Given the description of an element on the screen output the (x, y) to click on. 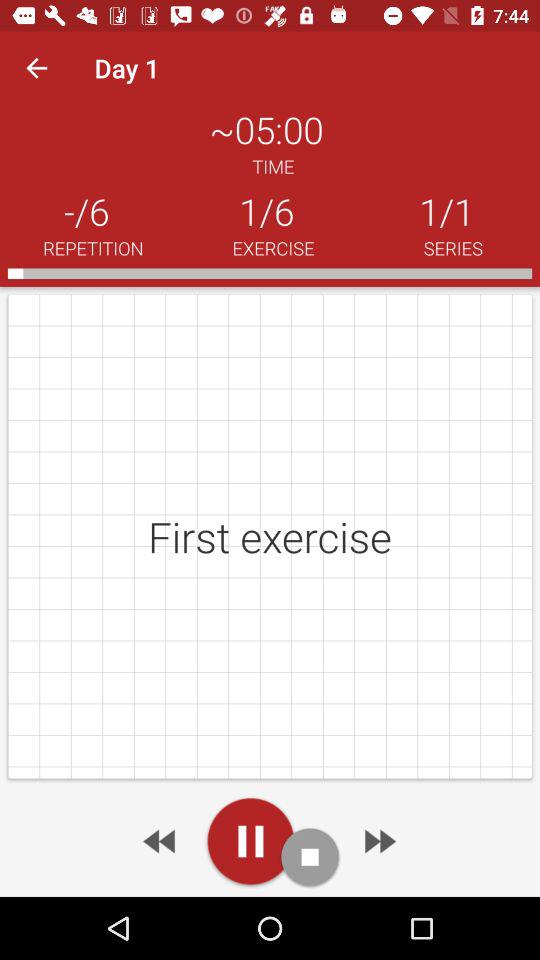
fast forward (378, 841)
